Given the description of an element on the screen output the (x, y) to click on. 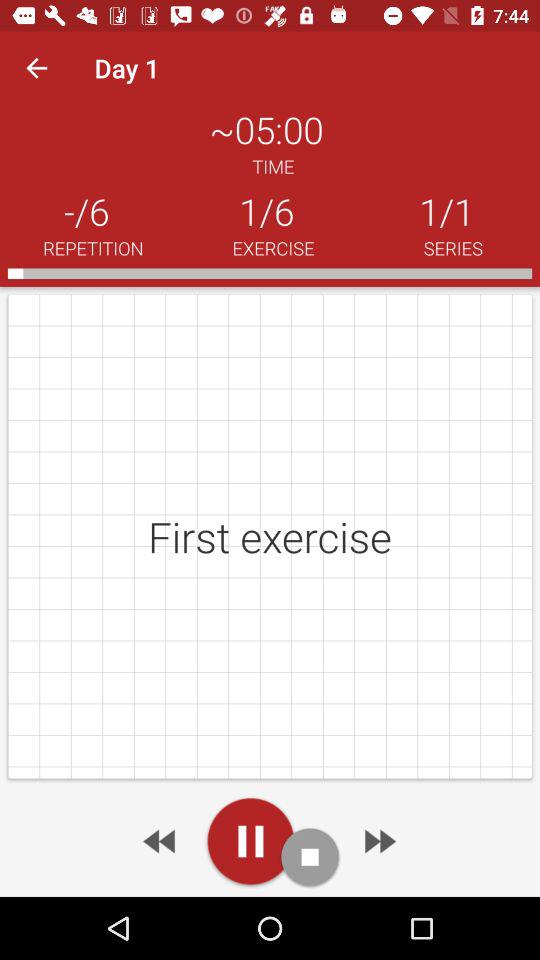
fast forward (378, 841)
